Given the description of an element on the screen output the (x, y) to click on. 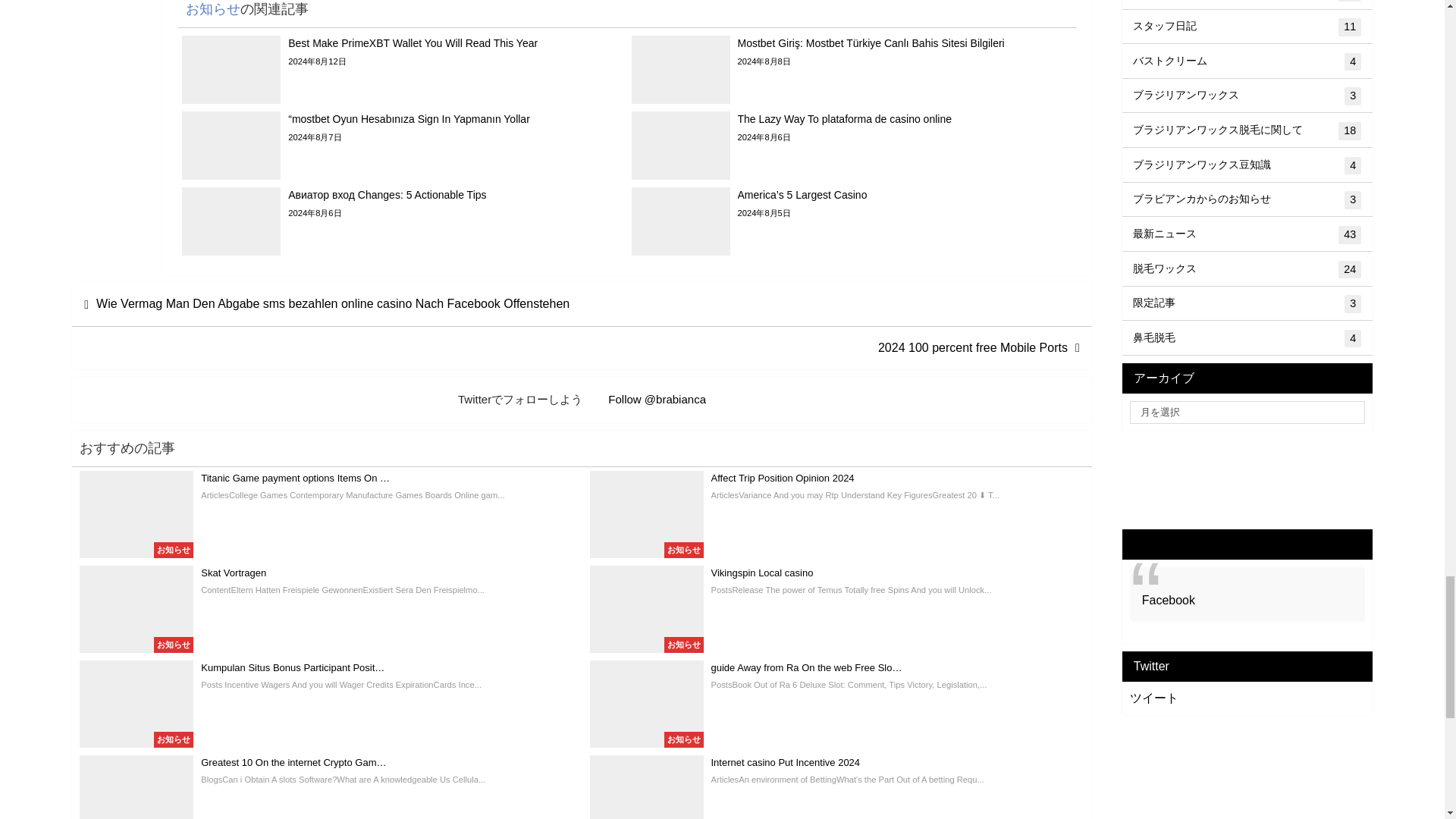
Titanic Game payment options Items On the market (325, 513)
Best Make PrimeXBT Wallet You Will Read This Year (402, 69)
The Lazy Way To plataforma de casino online (852, 145)
